Given the description of an element on the screen output the (x, y) to click on. 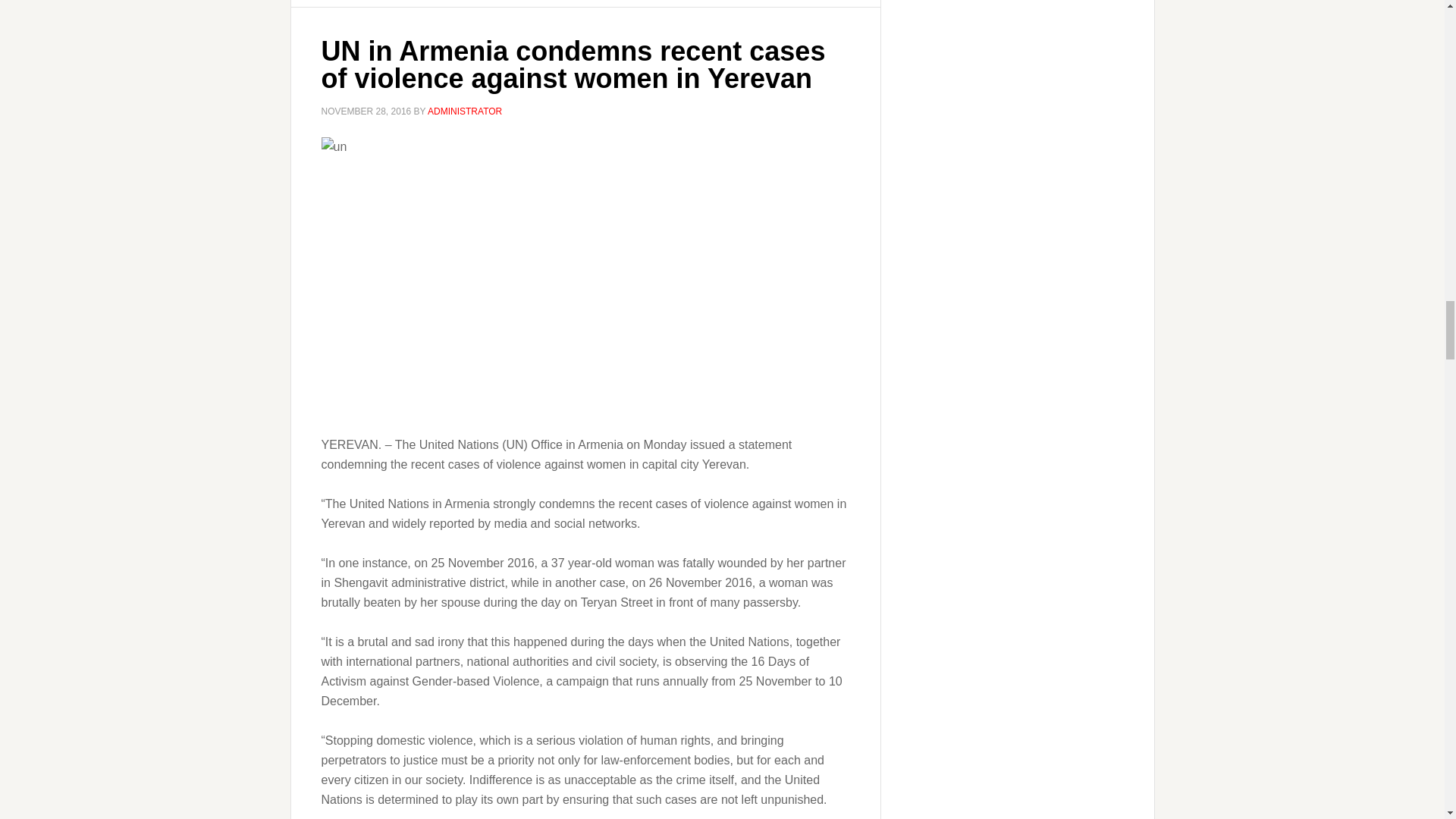
ADMINISTRATOR (465, 111)
